Given the description of an element on the screen output the (x, y) to click on. 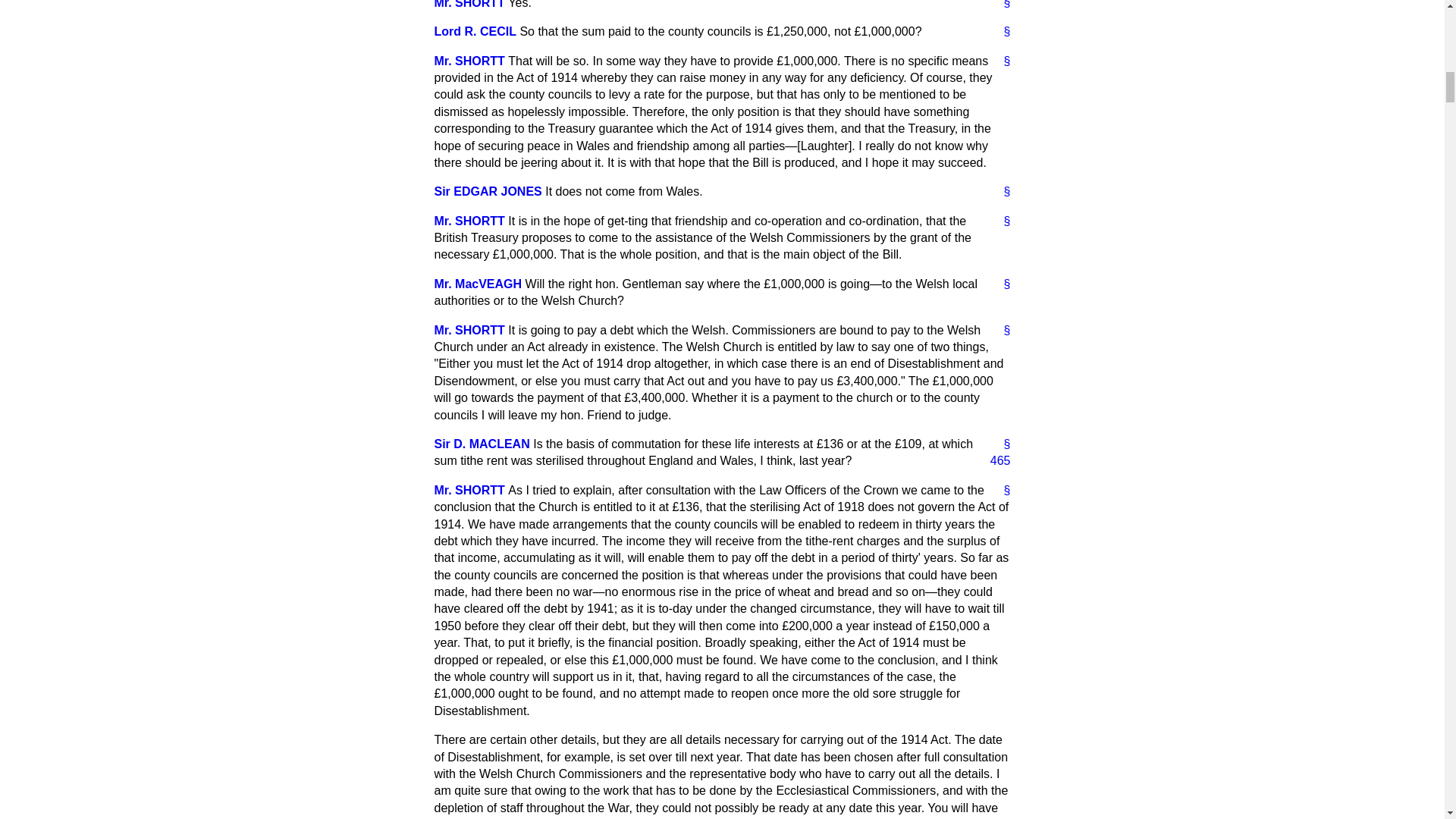
Lord Robert Cecil (474, 31)
Mr. SHORTT (468, 4)
Link to this speech by Mr Edward Shortt (1000, 61)
Link to this speech by Mr Edgar Jones (1000, 191)
Mr. SHORTT (468, 60)
Mr. SHORTT (468, 220)
Mr Edward Shortt (468, 60)
Lord R. CECIL (474, 31)
Link to this speech by Lord Robert Cecil (1000, 31)
Mr Edward Shortt (468, 4)
